Given the description of an element on the screen output the (x, y) to click on. 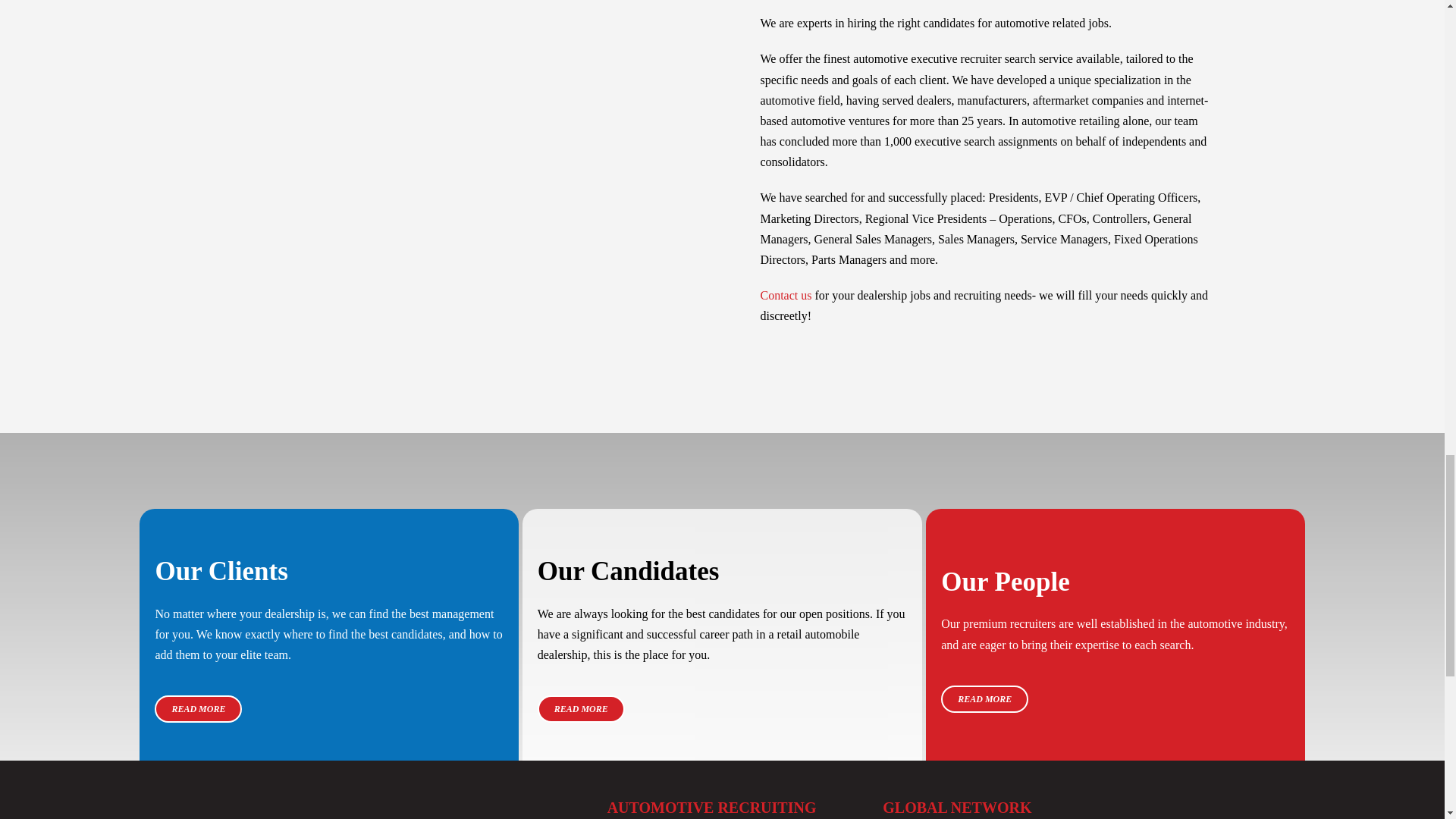
Contact us (785, 295)
READ MORE (580, 708)
READ MORE (197, 708)
READ MORE (983, 698)
